Given the description of an element on the screen output the (x, y) to click on. 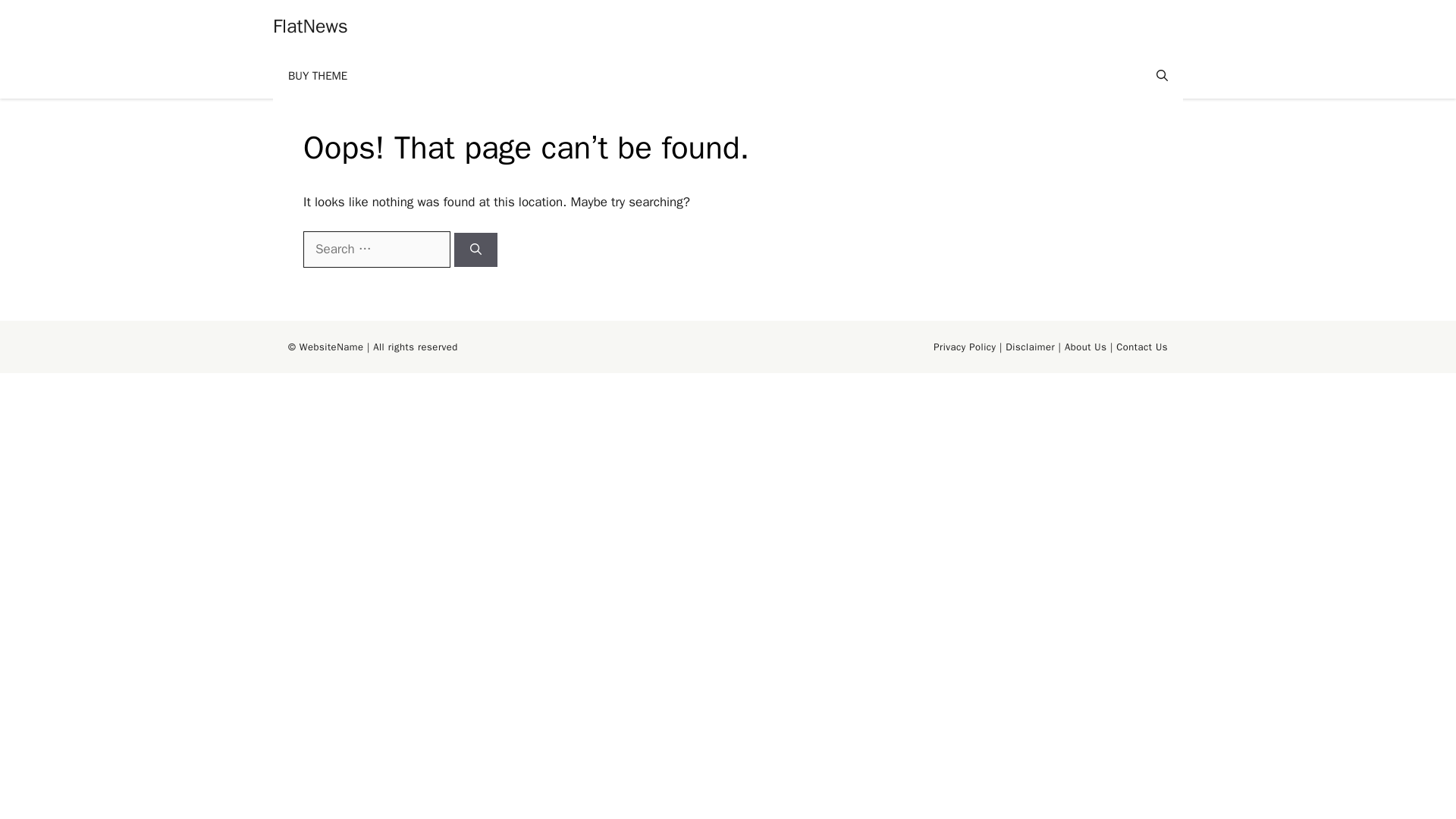
FlatNews (310, 25)
Search for: (375, 248)
Privacy Policy (964, 346)
BUY THEME (317, 75)
Disclaimer (1030, 346)
About Us (1085, 346)
Contact Us (1141, 346)
